Given the description of an element on the screen output the (x, y) to click on. 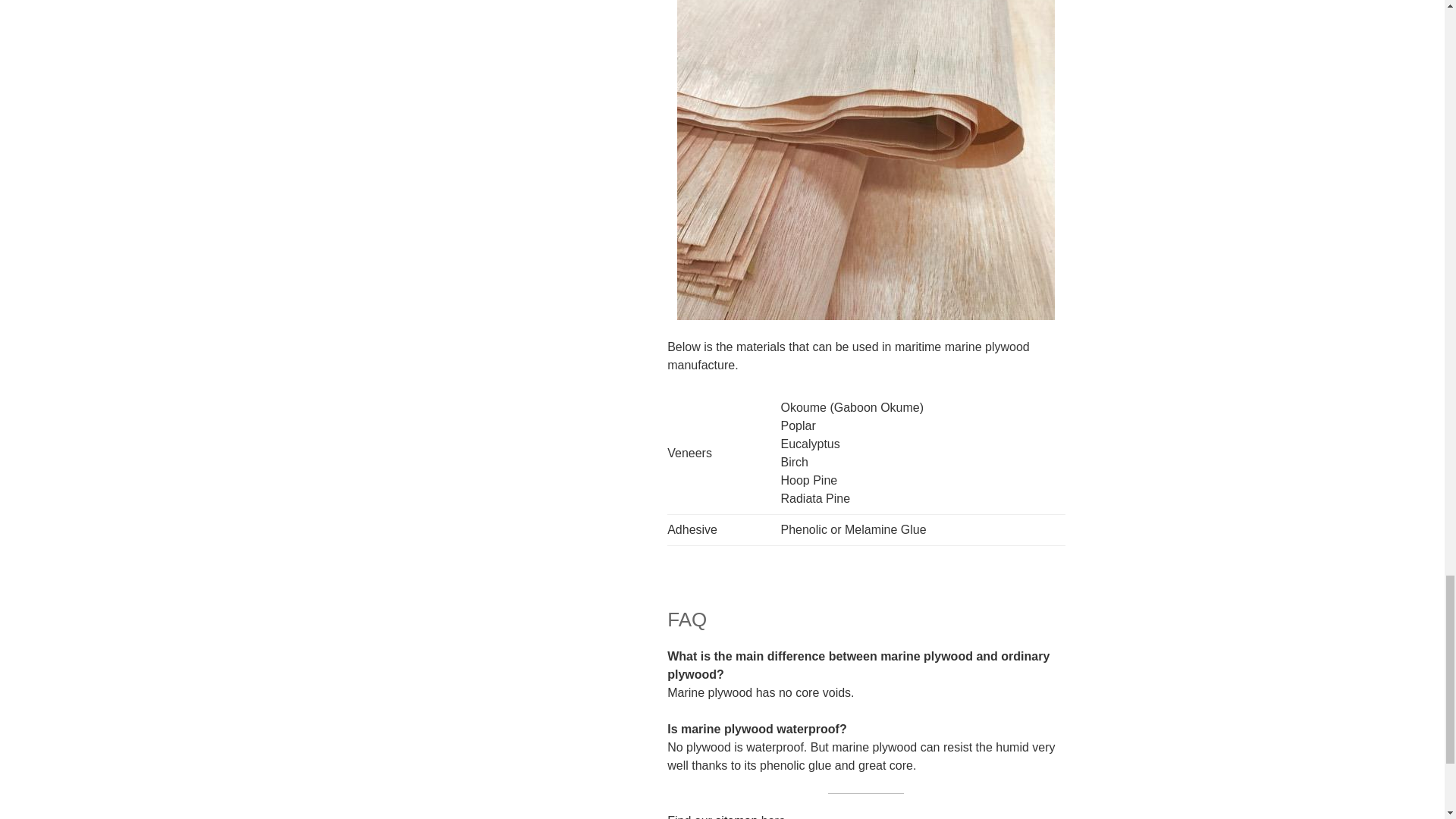
sitemap (735, 816)
